Given the description of an element on the screen output the (x, y) to click on. 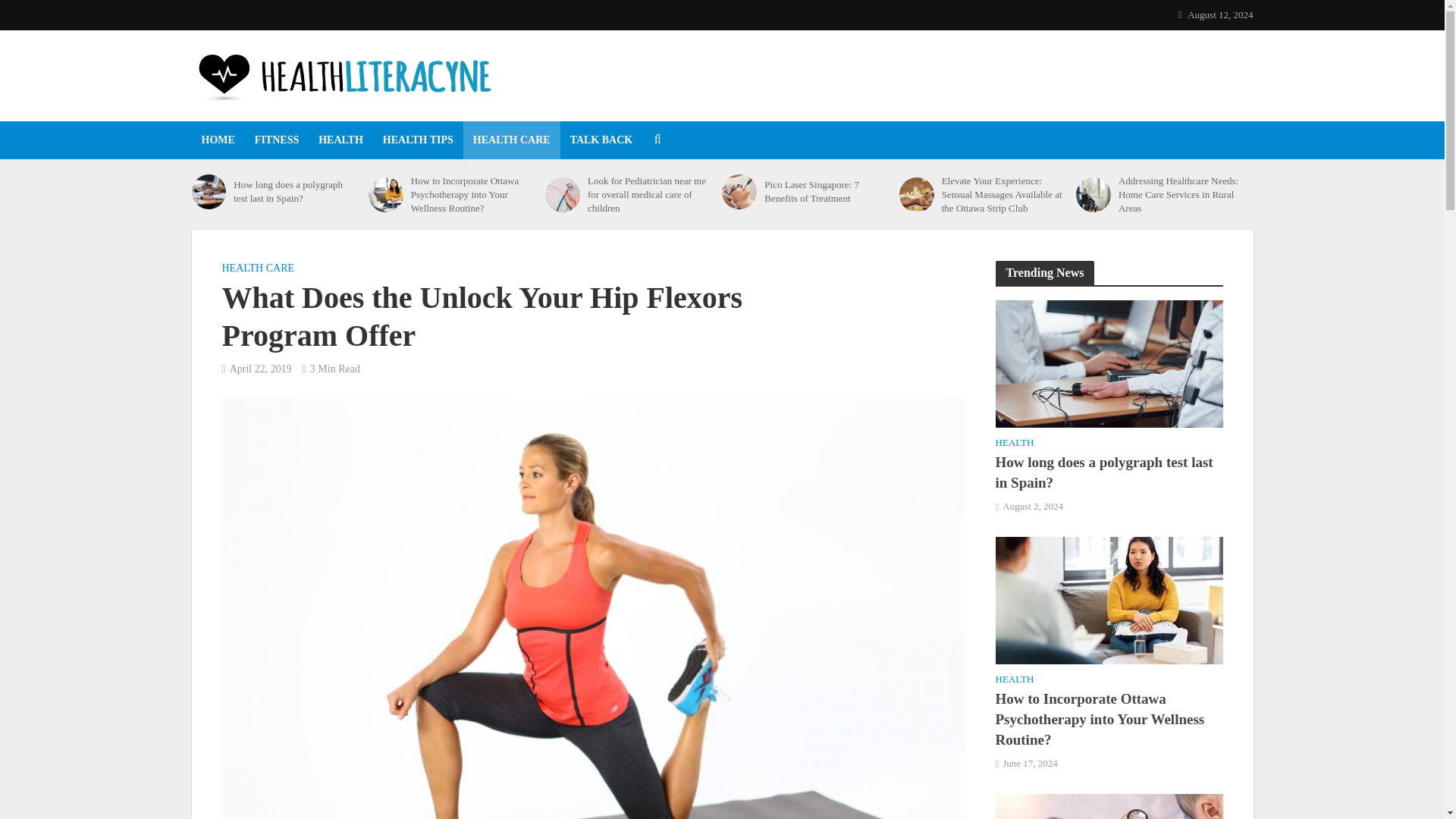
HOME (217, 139)
TALK BACK (601, 139)
How long does a polygraph test last in Spain? (295, 191)
HEALTH CARE (257, 270)
HEALTH CARE (511, 139)
Pico Laser Singapore: 7 Benefits of Treatment (739, 191)
